Given the description of an element on the screen output the (x, y) to click on. 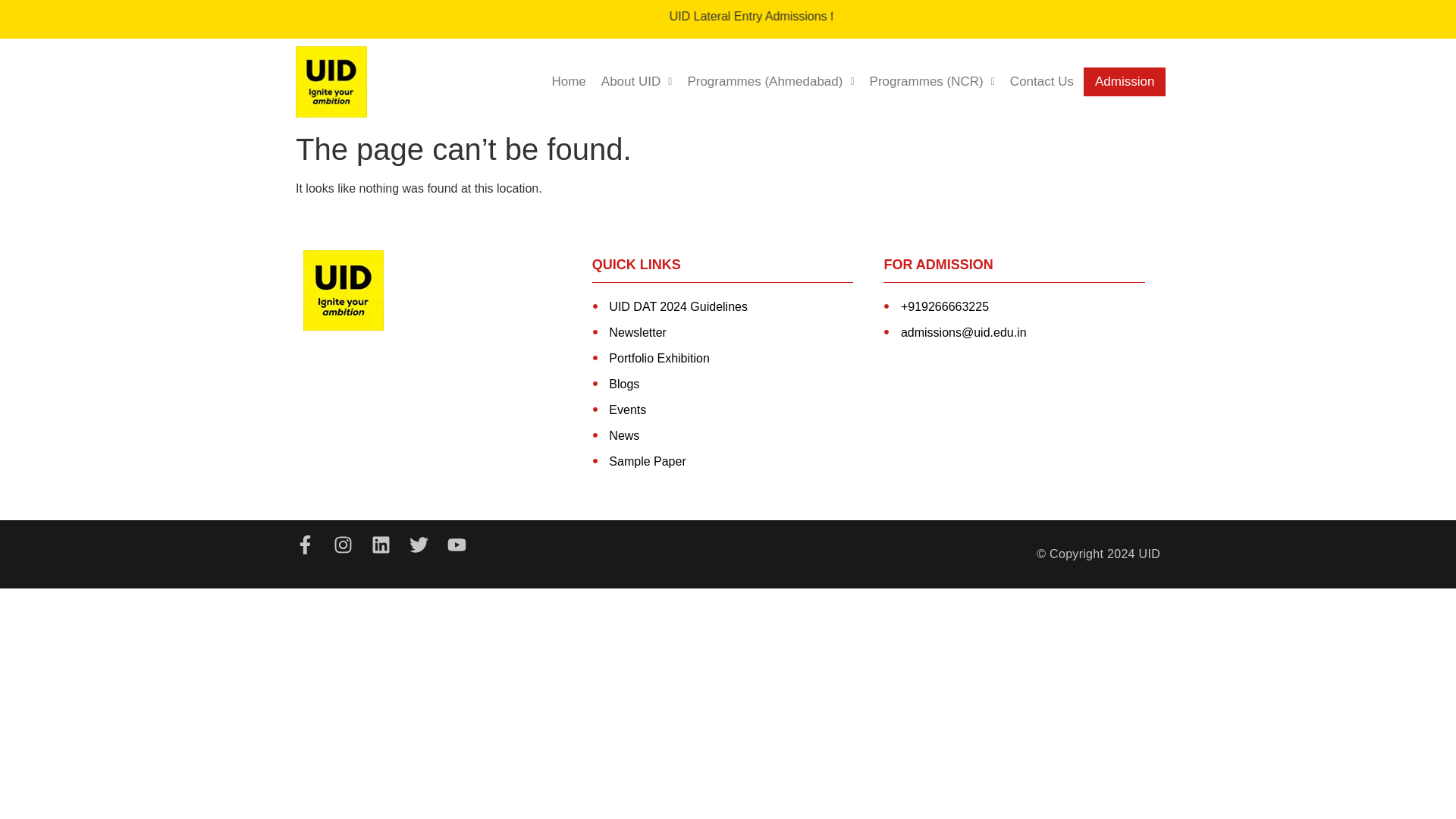
Contact Us (1042, 81)
About UID (636, 81)
Click Here (1302, 15)
Home (567, 81)
Admission (1124, 81)
